Given the description of an element on the screen output the (x, y) to click on. 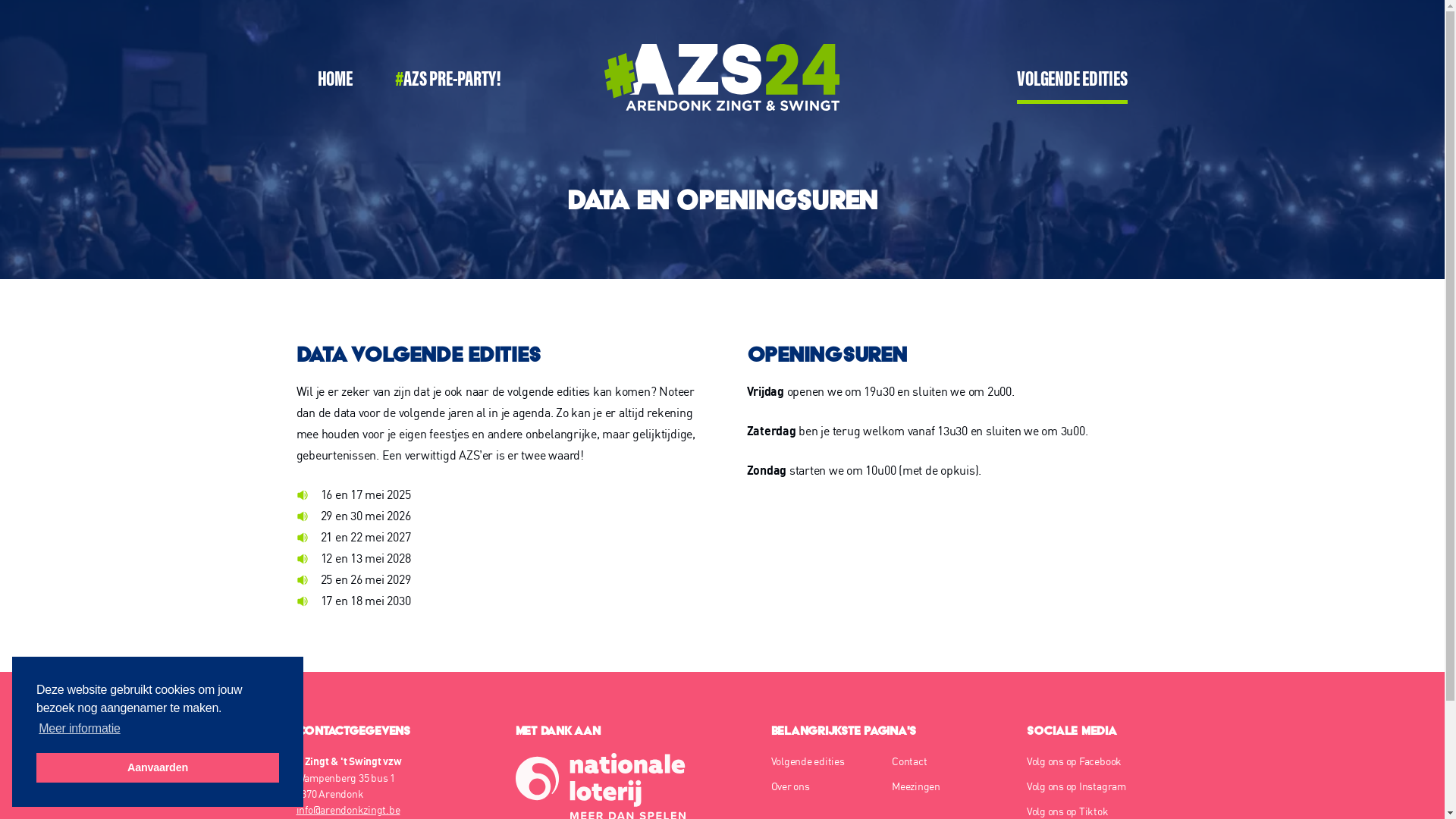
VOLGENDE EDITIES Element type: text (1071, 80)
info@arendonkzingt.be Element type: text (347, 809)
Contact Element type: text (946, 760)
Meezingen Element type: text (946, 785)
AZS PRE-PARTY! Element type: text (448, 80)
Volg ons op Instagram Element type: text (1087, 785)
Over ons Element type: text (825, 785)
Volgende edities Element type: text (825, 760)
Volg ons op Facebook Element type: text (1087, 760)
Meer informatie Element type: text (79, 728)
HOME Element type: text (333, 80)
Aanvaarden Element type: text (157, 767)
